Given the description of an element on the screen output the (x, y) to click on. 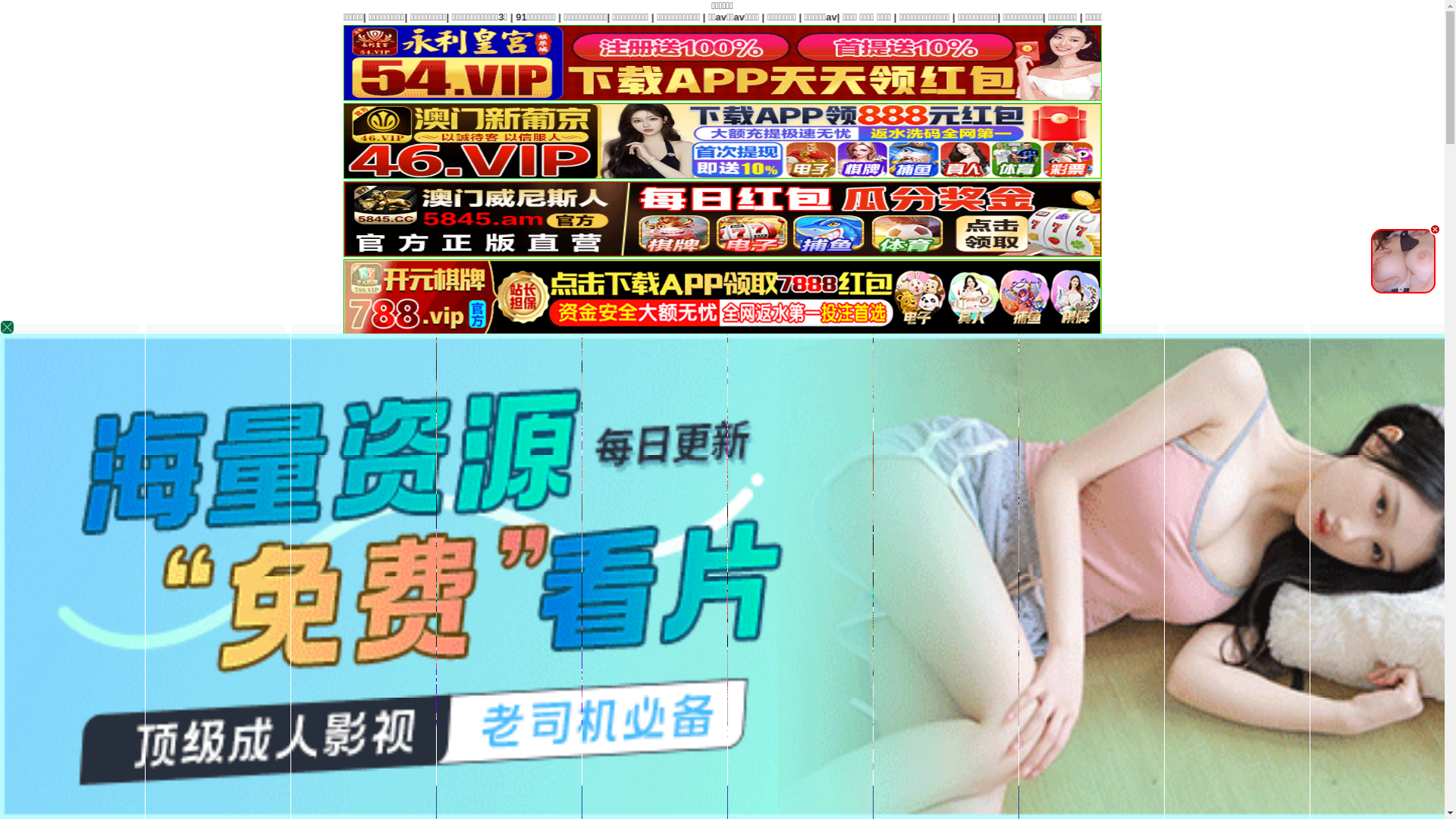
| Element type: text (294, 16)
| Element type: text (157, 16)
| Element type: text (707, 16)
| Element type: text (79, 16)
| Element type: text (392, 16)
| Element type: text (122, 16)
| Element type: text (245, 16)
| Element type: text (218, 16)
| Element type: text (729, 16)
| Element type: text (519, 16)
| Element type: text (484, 16)
| Element type: text (616, 16)
| Element type: text (349, 16)
| Element type: text (682, 16)
| Element type: text (659, 16)
| Element type: text (189, 16)
| Element type: text (36, 16)
| Element type: text (574, 16)
| Element type: text (417, 16)
